Given the description of an element on the screen output the (x, y) to click on. 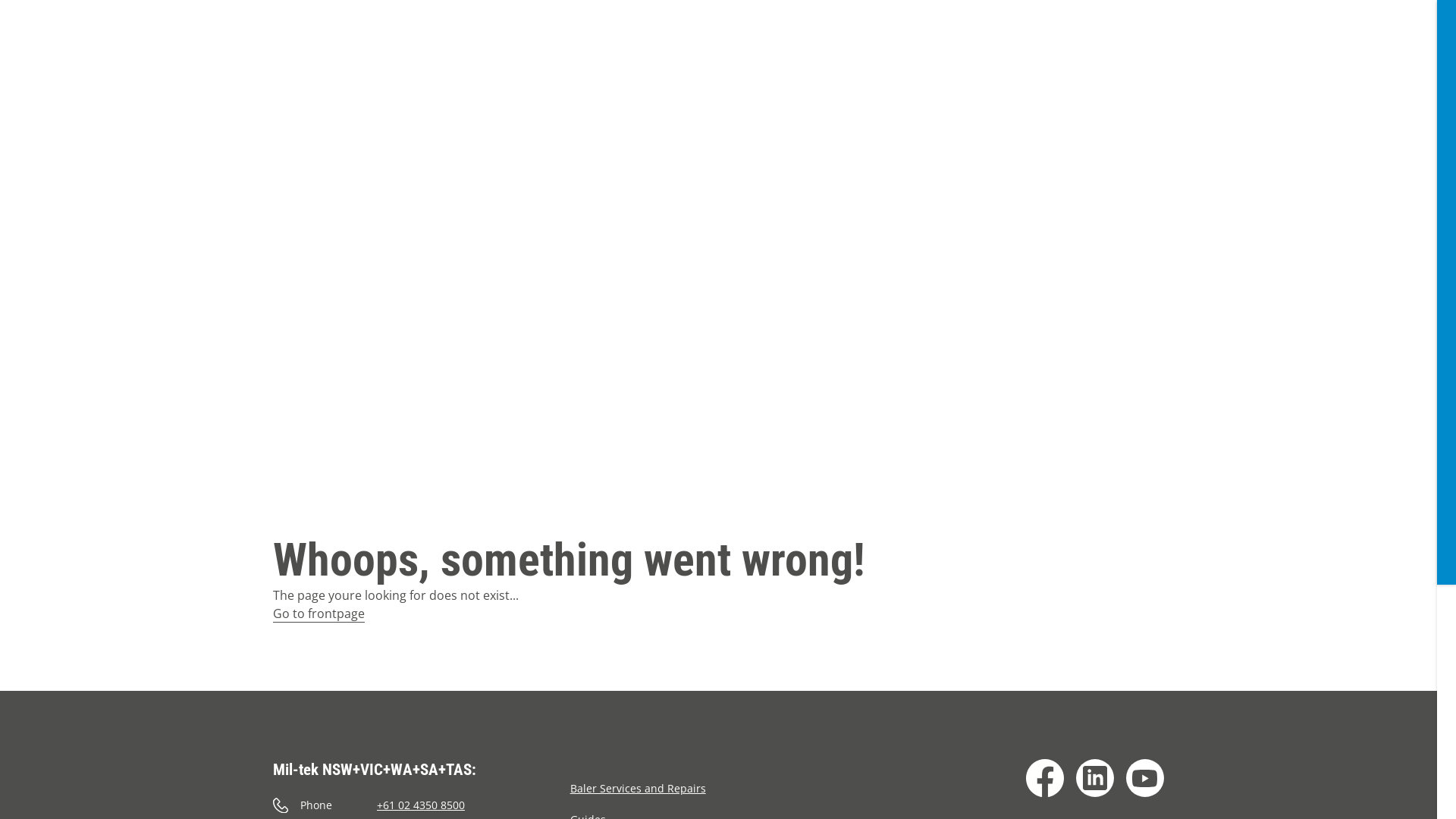
YouTube Element type: hover (1145, 778)
Baler Services and Repairs Element type: text (638, 788)
Contact Element type: text (903, 69)
LinkedIn Element type: hover (1094, 778)
Home Element type: hover (215, 49)
Balers & Compactors Element type: text (383, 69)
Cart Element type: hover (1164, 67)
Go to frontpage Element type: text (318, 613)
Consumables Element type: text (513, 69)
Cases Element type: text (784, 69)
Language Element type: hover (1242, 67)
Facebook Element type: hover (1044, 778)
Materials Element type: text (716, 69)
Phone
+61 02 4350 8500 Element type: text (421, 804)
Your Segment Element type: text (622, 69)
Search Element type: hover (1204, 67)
About Element type: text (840, 69)
